Given the description of an element on the screen output the (x, y) to click on. 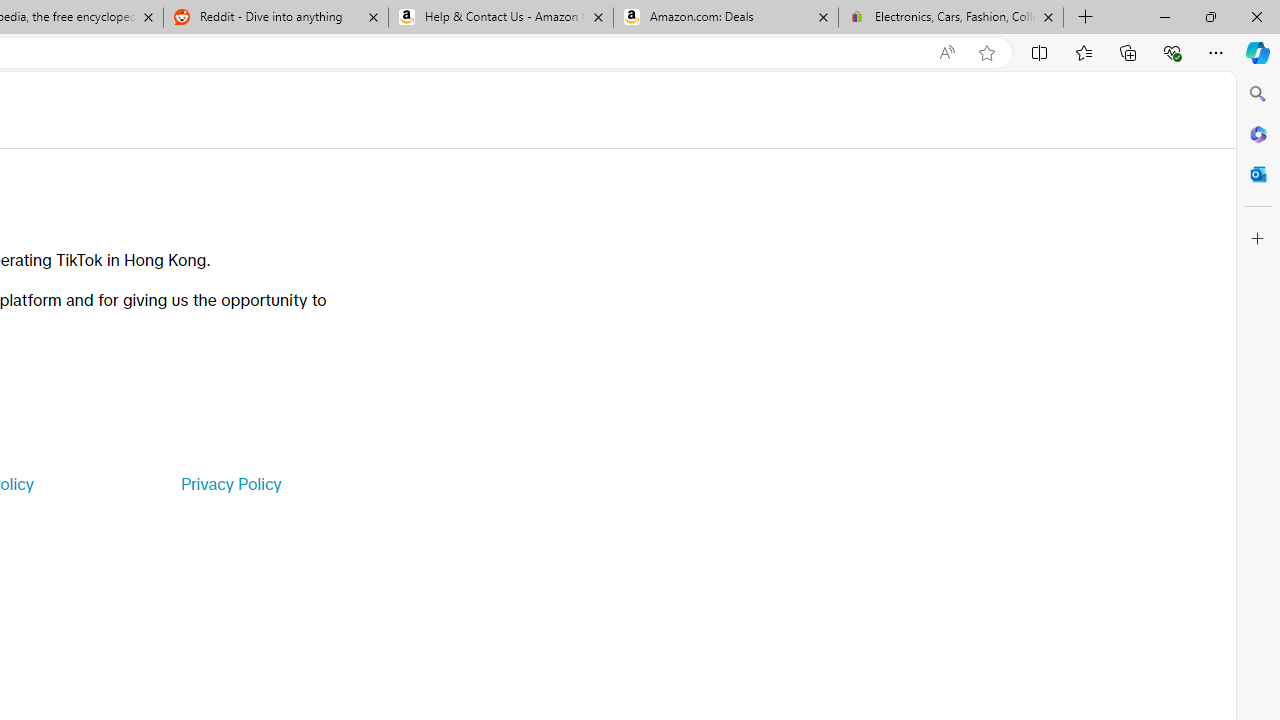
Customize (1258, 239)
Close Outlook pane (1258, 174)
Help & Contact Us - Amazon Customer Service (501, 17)
Reddit - Dive into anything (275, 17)
Amazon.com: Deals (726, 17)
